Given the description of an element on the screen output the (x, y) to click on. 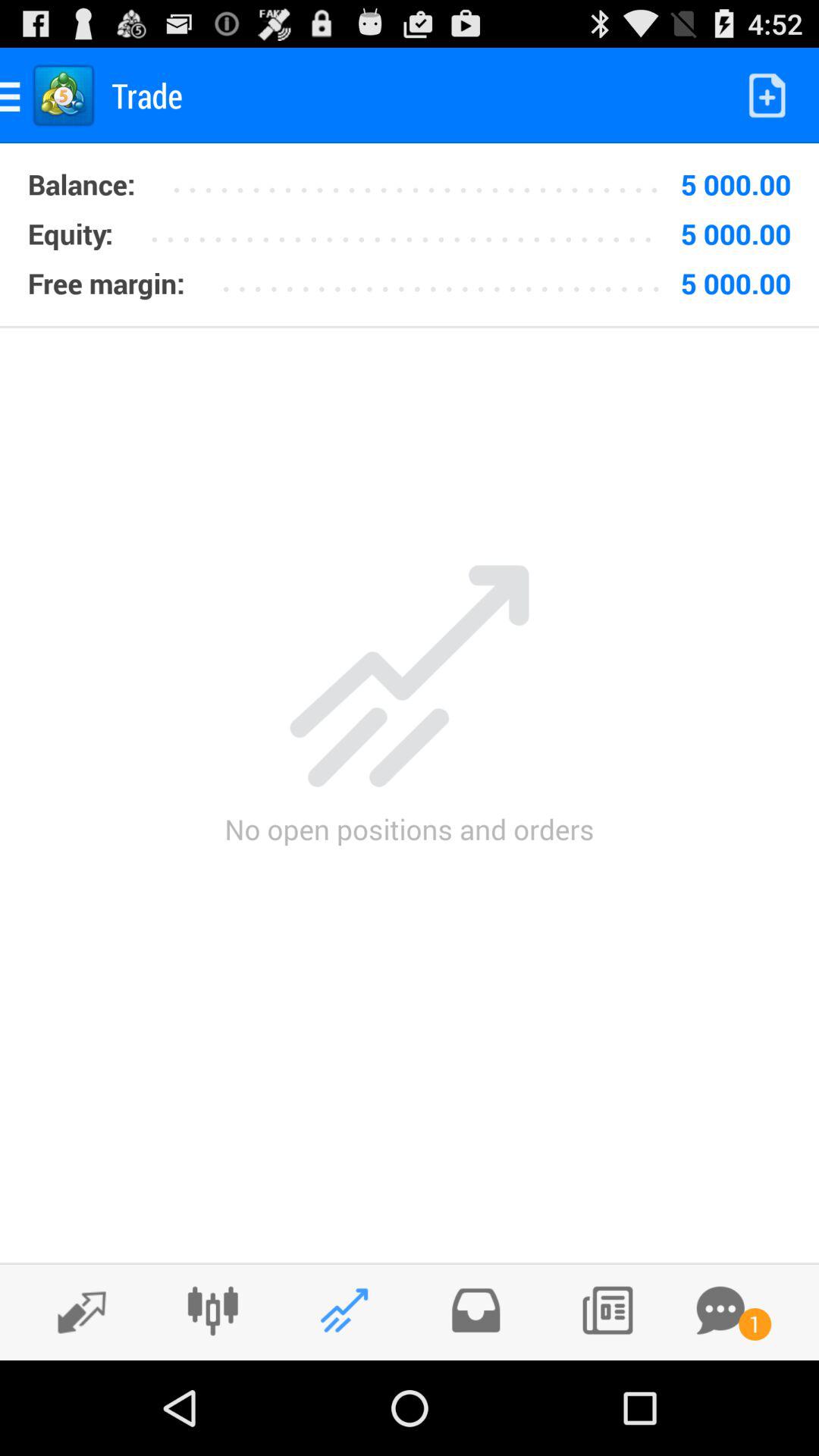
display open positions and orders (344, 1310)
